Given the description of an element on the screen output the (x, y) to click on. 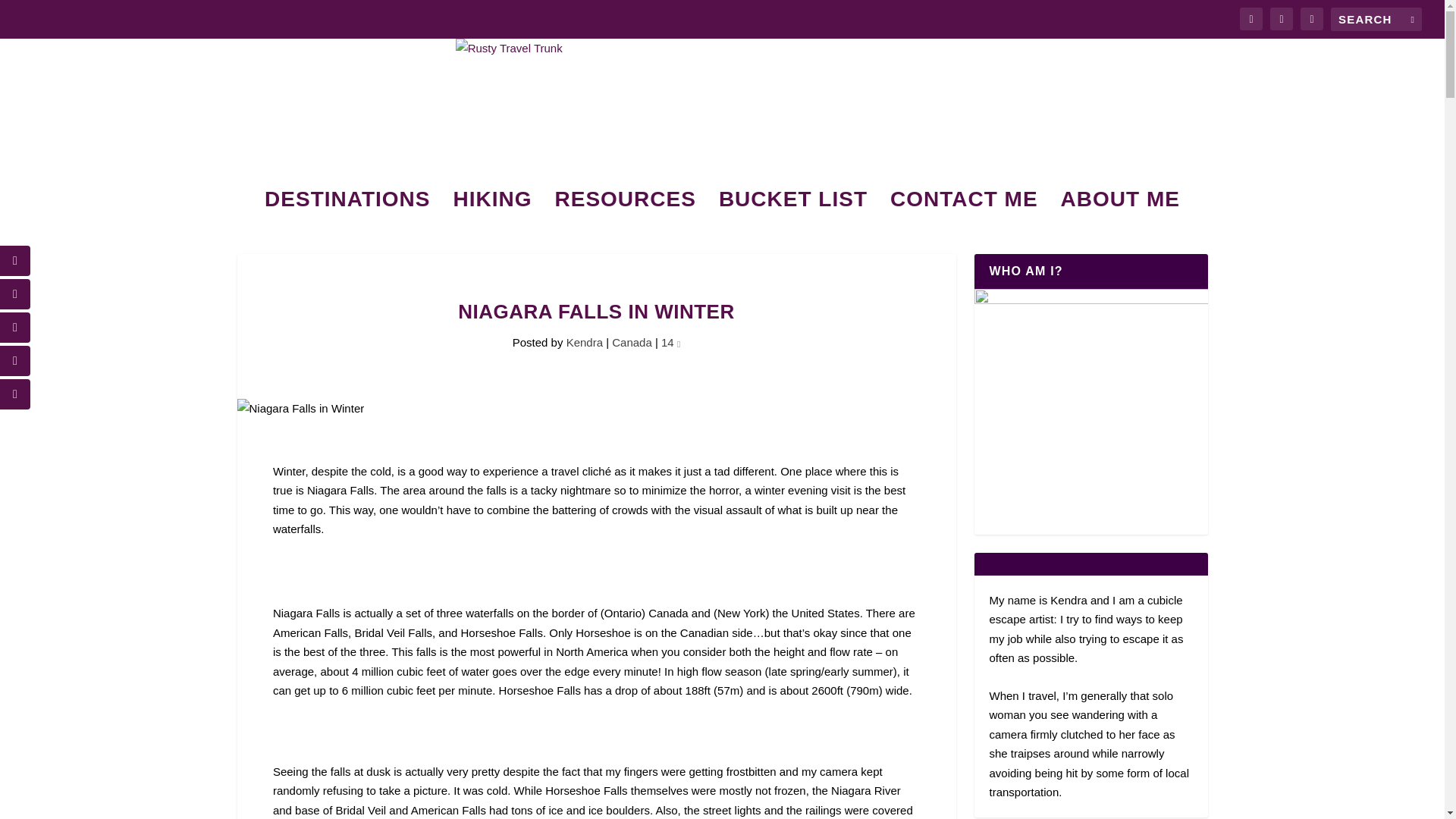
Kendra (584, 341)
Canada (631, 341)
Search for: (1376, 19)
ABOUT ME (1120, 219)
DESTINATIONS (346, 219)
BUCKET LIST (793, 219)
Posts by Kendra (584, 341)
14 (670, 341)
HIKING (492, 219)
RESOURCES (624, 219)
